Given the description of an element on the screen output the (x, y) to click on. 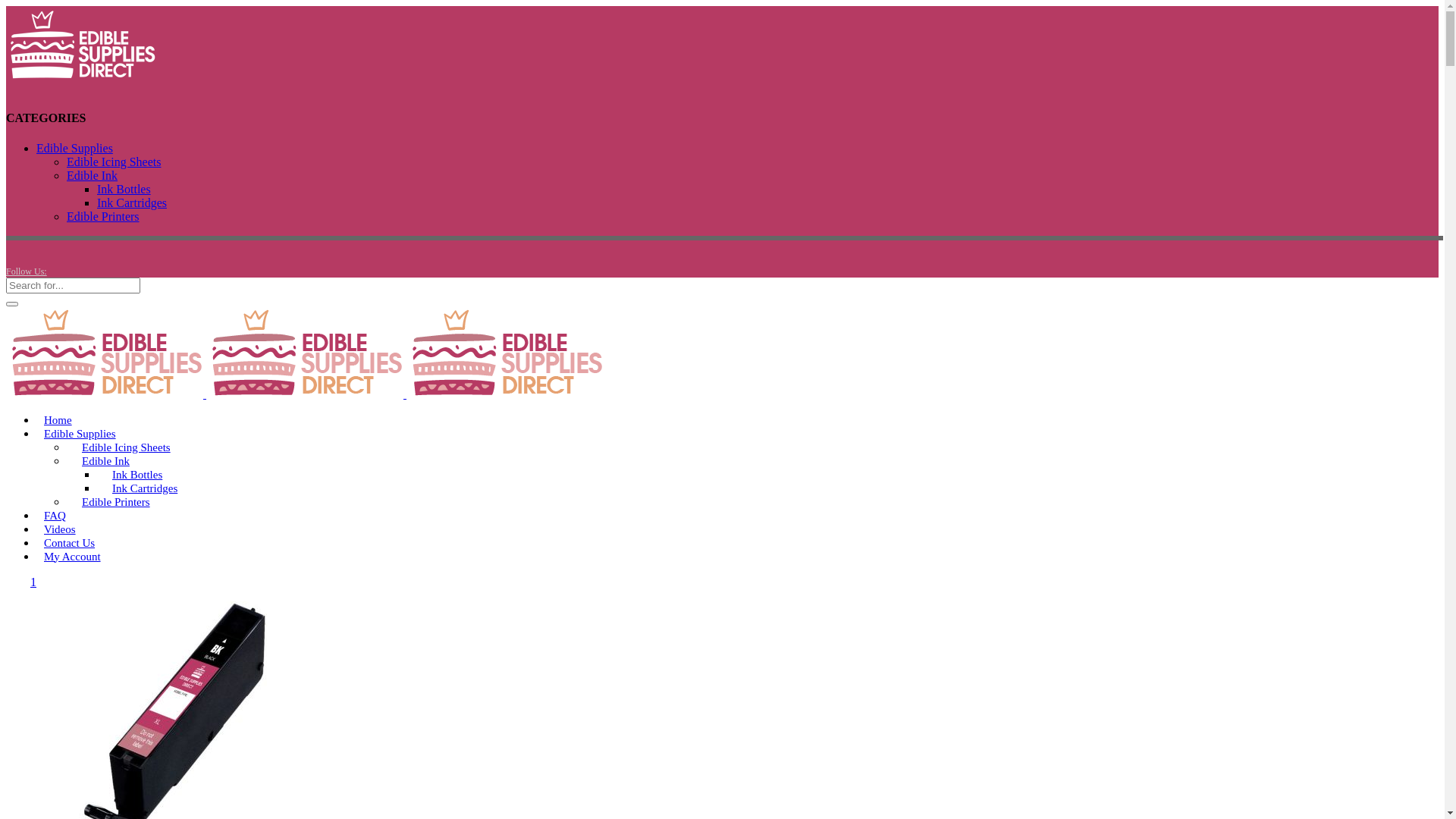
Videos Element type: text (59, 529)
Ink Cartridges Element type: text (131, 202)
1 Element type: text (33, 581)
My Account Element type: text (72, 556)
Contact Us Element type: text (69, 542)
Follow Us: Element type: text (26, 271)
Edible Ink Element type: text (91, 175)
Ink Bottles Element type: text (123, 188)
Edible Supplies Element type: text (79, 433)
Edible Printers Element type: text (115, 501)
Ink Bottles Element type: text (137, 474)
Ink Cartridges Element type: text (144, 487)
Edible Icing Sheets Element type: text (125, 447)
Edible Supplies Element type: text (74, 147)
Home Element type: text (57, 420)
Edible Ink Element type: text (105, 460)
Edible Printers Element type: text (102, 216)
FAQ Element type: text (54, 515)
Edible Icing Sheets Element type: text (113, 161)
